Given the description of an element on the screen output the (x, y) to click on. 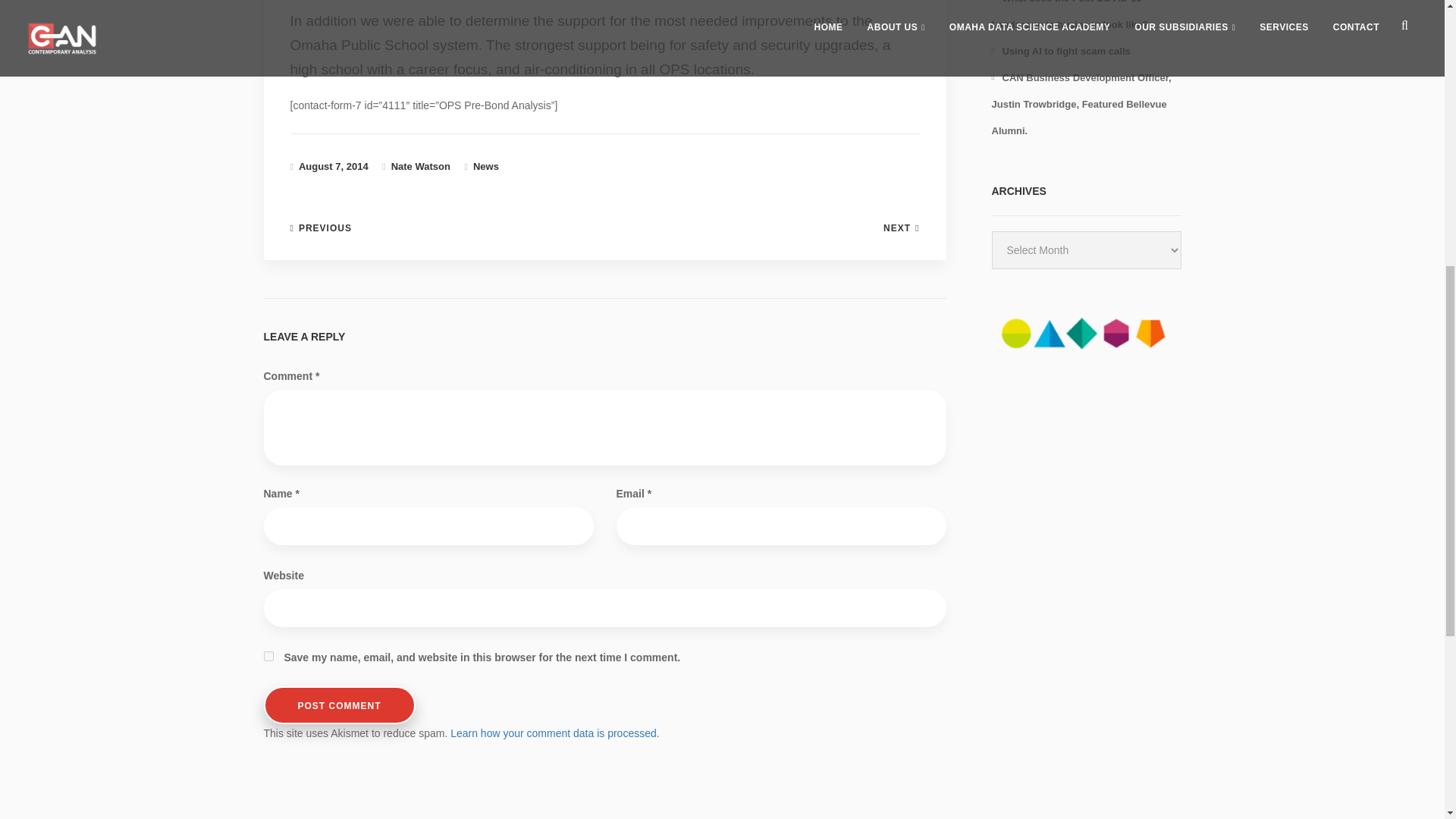
Nate Watson (420, 165)
Post Comment (338, 704)
yes (268, 655)
What does the Post COVID-19 Landscape in business look like? (1069, 15)
News (486, 165)
Post Comment (338, 704)
PREVIOUS (319, 227)
Learn how your comment data is processed (552, 733)
Using AI to fight scam calls (1061, 50)
NEXT (900, 227)
